Given the description of an element on the screen output the (x, y) to click on. 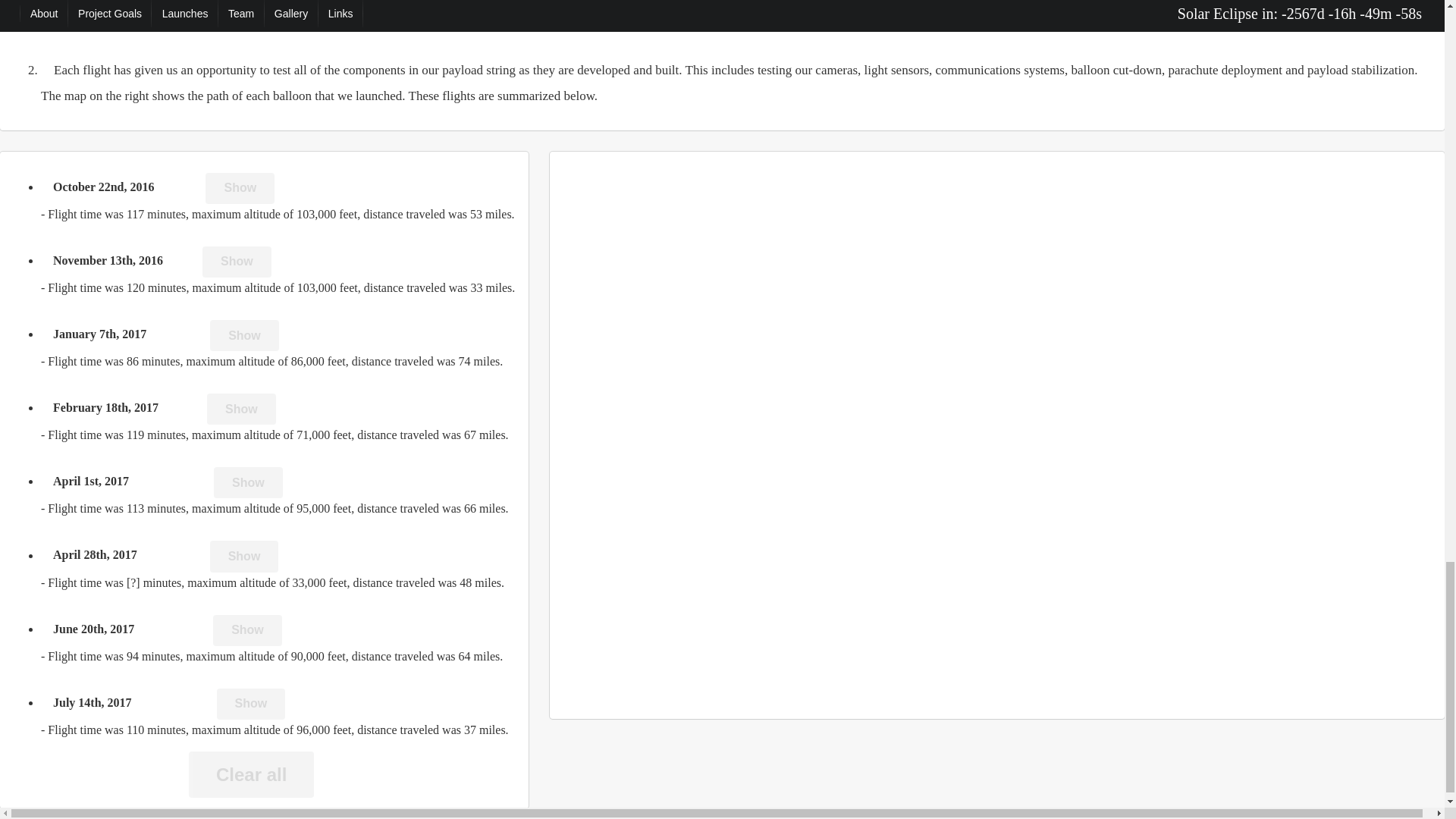
Show (250, 703)
Show (236, 261)
Show (247, 630)
Clear all (251, 774)
Show (240, 187)
Show (248, 481)
Show (244, 555)
Show (244, 335)
Show (241, 409)
